Given the description of an element on the screen output the (x, y) to click on. 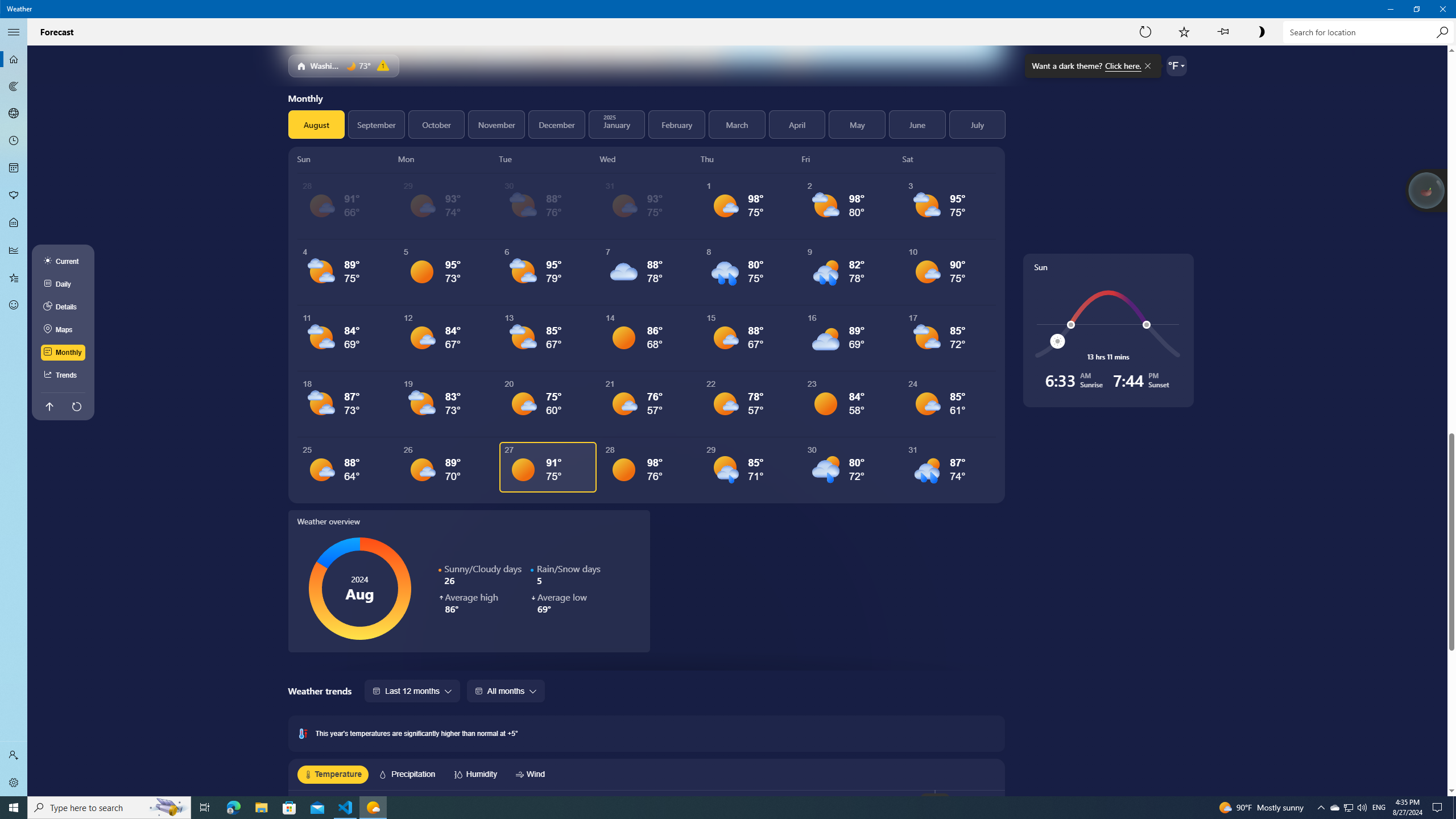
Show desktop (1454, 807)
Historical Weather - Not Selected (13, 249)
Tray Input Indicator - English (United States) (1378, 807)
Forecast - Not Selected (13, 58)
Pin (1222, 31)
Add to Favorites (1184, 31)
Forecast - Not Selected (13, 58)
Visual Studio Code - 1 running window (345, 807)
Favorites - Not Selected (13, 277)
Action Center, No new notifications (1439, 807)
Send Feedback - Not Selected (13, 304)
Microsoft Store (289, 807)
Notification Chevron (1320, 807)
